Given the description of an element on the screen output the (x, y) to click on. 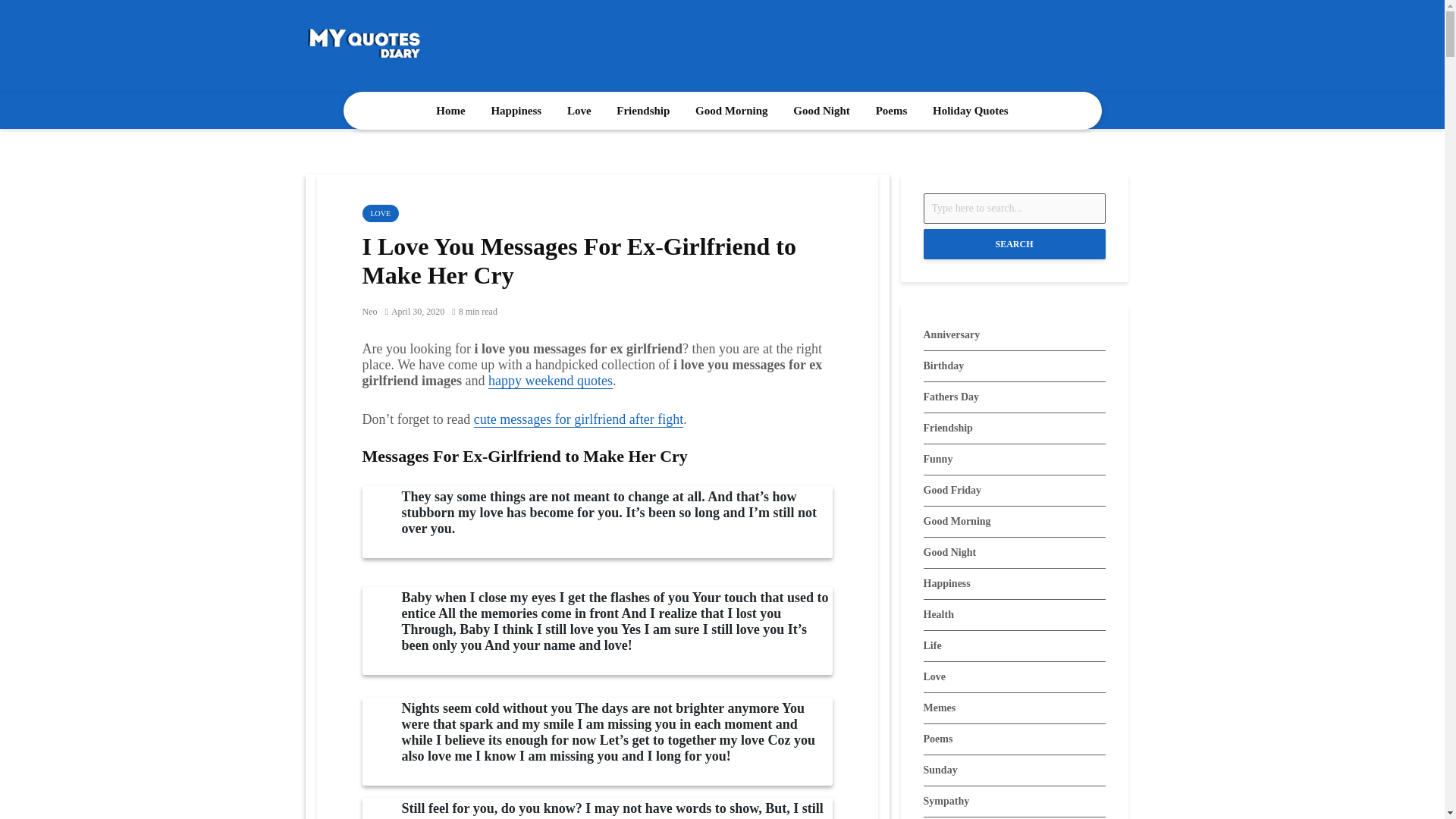
cute messages for girlfriend after fight (578, 419)
Anniversary (1014, 335)
Friendship (1014, 428)
Holiday Quotes (970, 110)
Good Morning (731, 110)
LOVE (380, 212)
Neo (369, 311)
Friendship (643, 110)
Funny (1014, 459)
Home (450, 110)
Love (579, 110)
Fathers Day (1014, 397)
Poems (891, 110)
happy weekend quotes (549, 381)
Birthday (1014, 366)
